Given the description of an element on the screen output the (x, y) to click on. 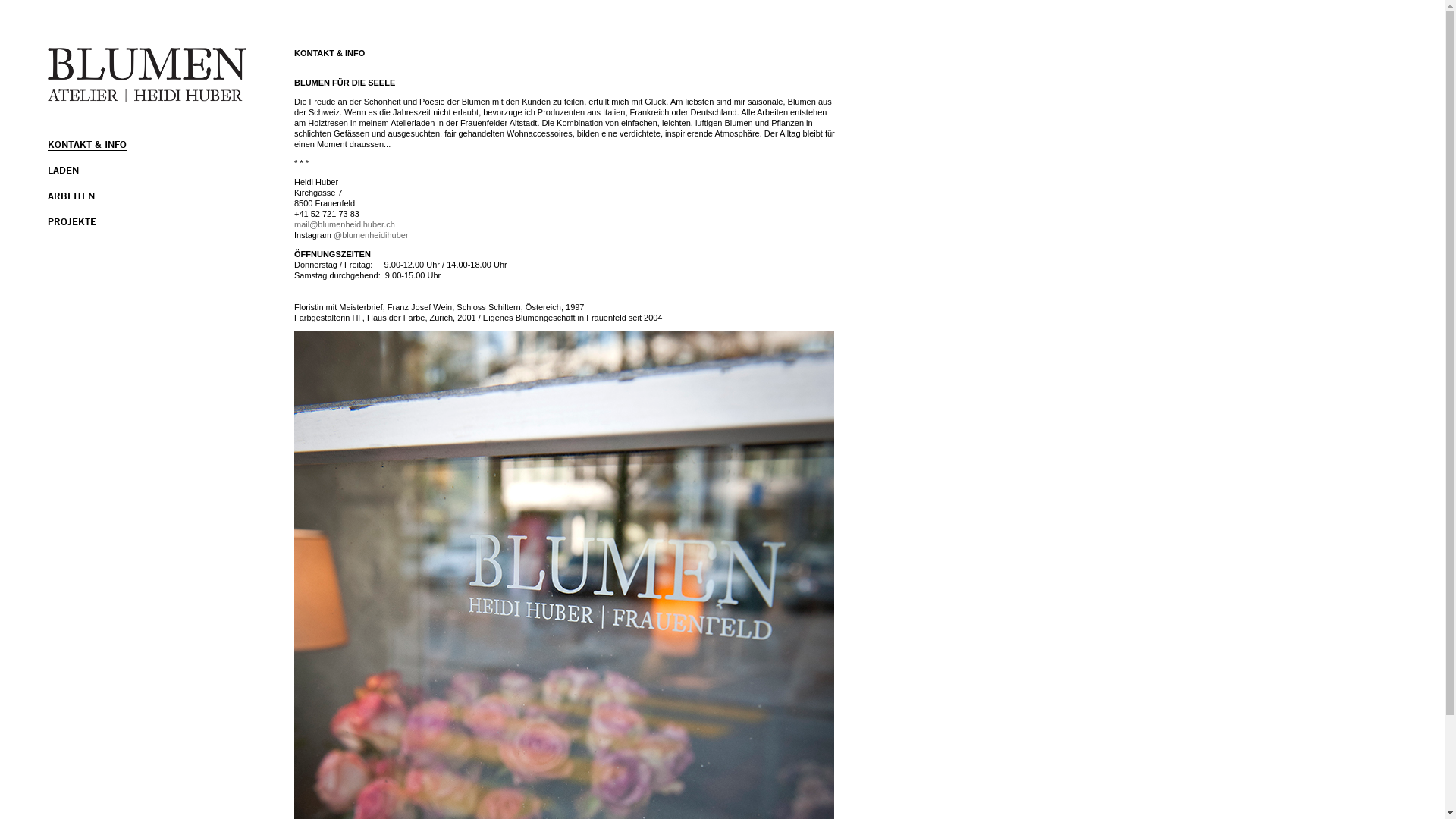
LADEN Element type: text (62, 169)
  Element type: text (1, 4)
PROJEKTE Element type: text (71, 221)
KONTAKT & INFO Element type: text (86, 144)
mail@blumenheidihuber.ch Element type: text (344, 224)
ARBEITEN Element type: text (70, 195)
@blumenheidihuber Element type: text (370, 234)
